Given the description of an element on the screen output the (x, y) to click on. 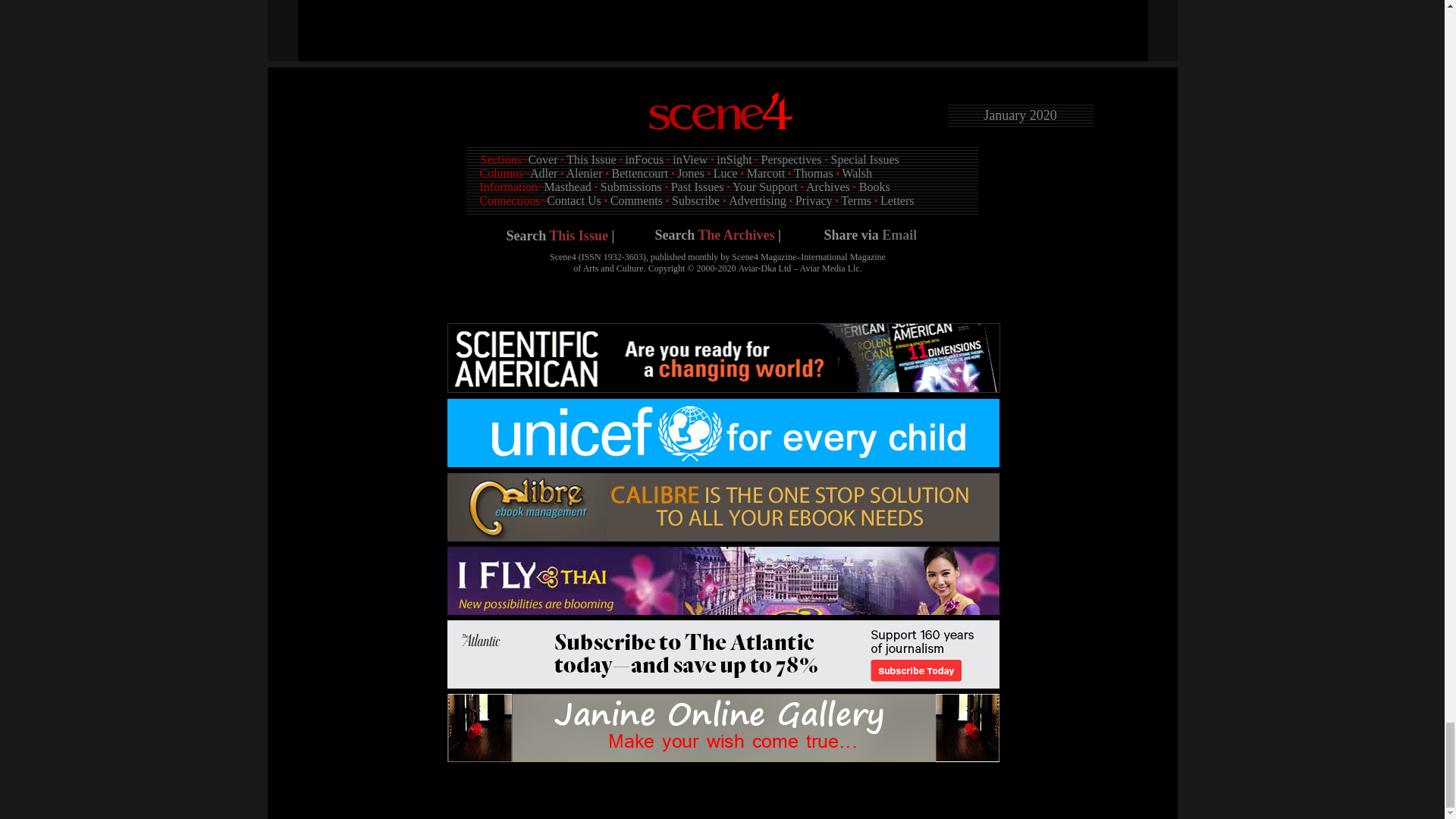
Your Support (764, 186)
Subscribe (695, 200)
Archives (828, 186)
Submissions (630, 186)
Privacy (813, 200)
Uniucef - www.scene4.com (722, 432)
Masthead (567, 186)
This Issue (590, 159)
inView (689, 159)
inSight (733, 159)
inFocus (644, 159)
Thomas (812, 173)
Advertising (757, 200)
Scientific American - www.scene4.com (723, 357)
Terms (855, 200)
